Given the description of an element on the screen output the (x, y) to click on. 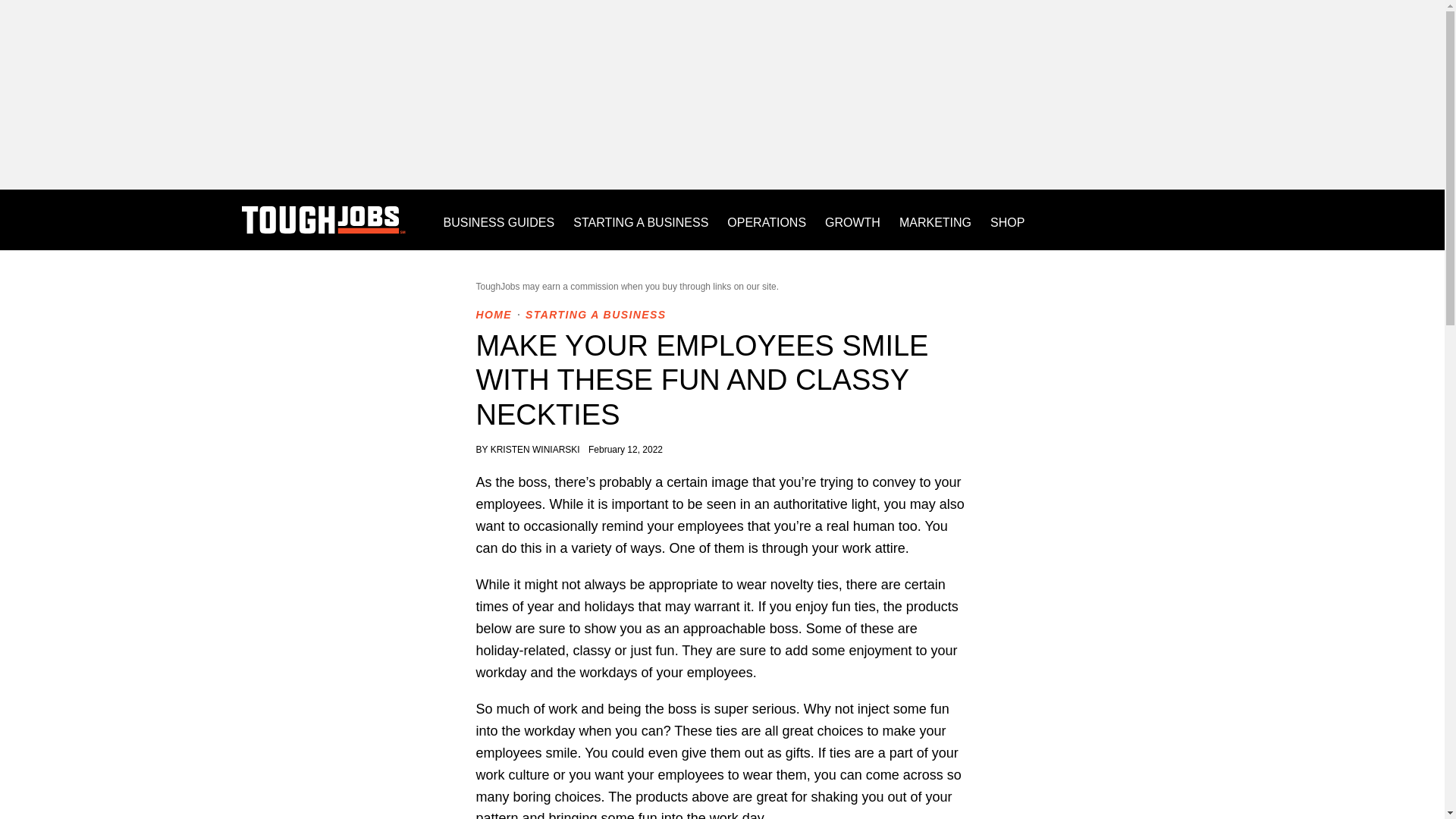
STARTING A BUSINESS (640, 219)
GROWTH (852, 219)
BUSINESS GUIDES (498, 219)
HOME (494, 314)
OPERATIONS (766, 219)
MARKETING (935, 219)
KRISTEN WINIARSKI (536, 449)
STARTING A BUSINESS (595, 314)
